Given the description of an element on the screen output the (x, y) to click on. 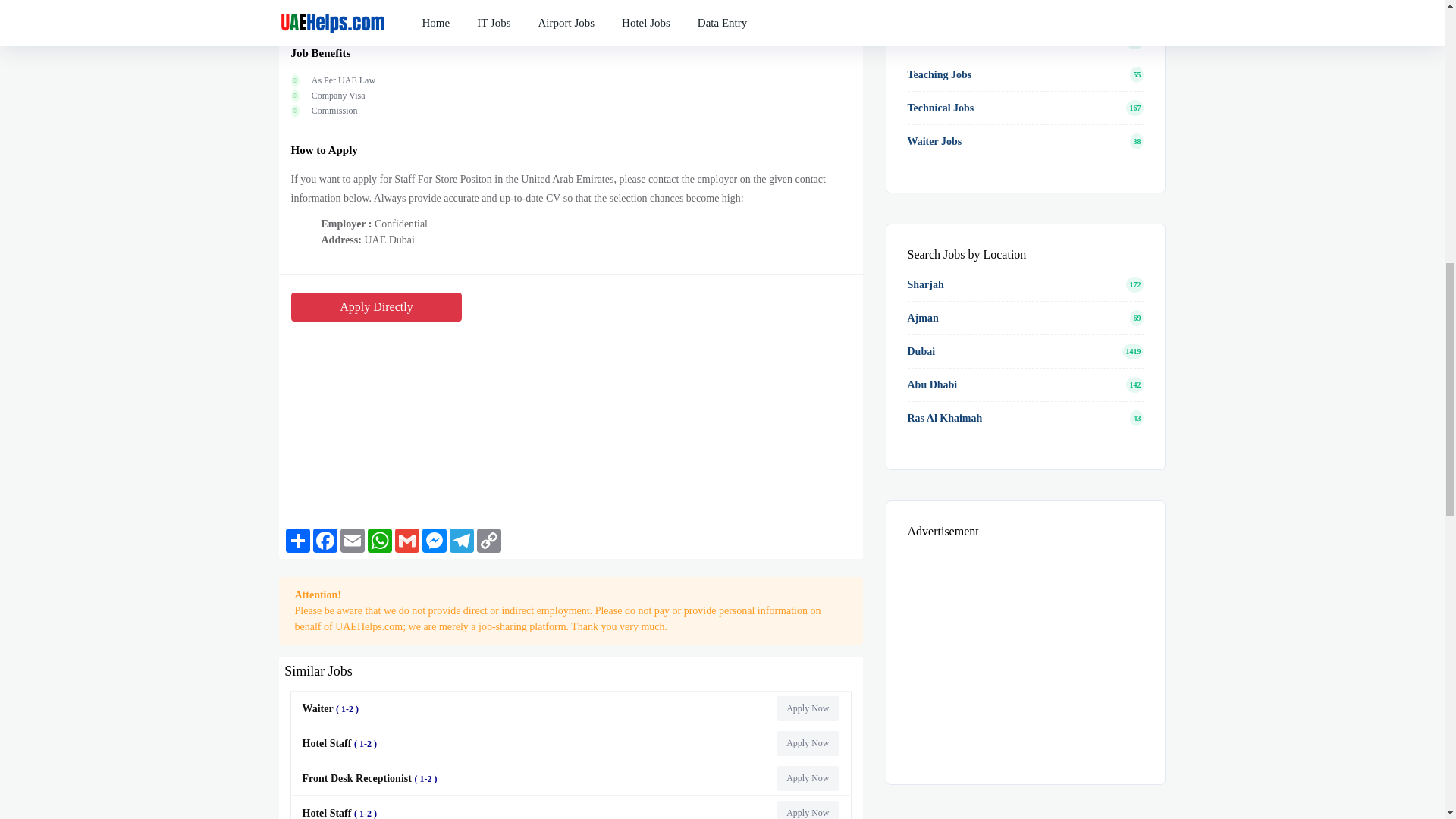
Front Desk Receptionist Jobs in Dubai UAE (807, 778)
Apply Now (807, 743)
Hotel Staff (341, 743)
WhatsApp (379, 540)
Hotel Staff (341, 813)
Front Desk Receptionist (371, 778)
Telegram (462, 540)
Apply Now (807, 809)
Apply Directly (377, 306)
Apply Now (807, 708)
